Given the description of an element on the screen output the (x, y) to click on. 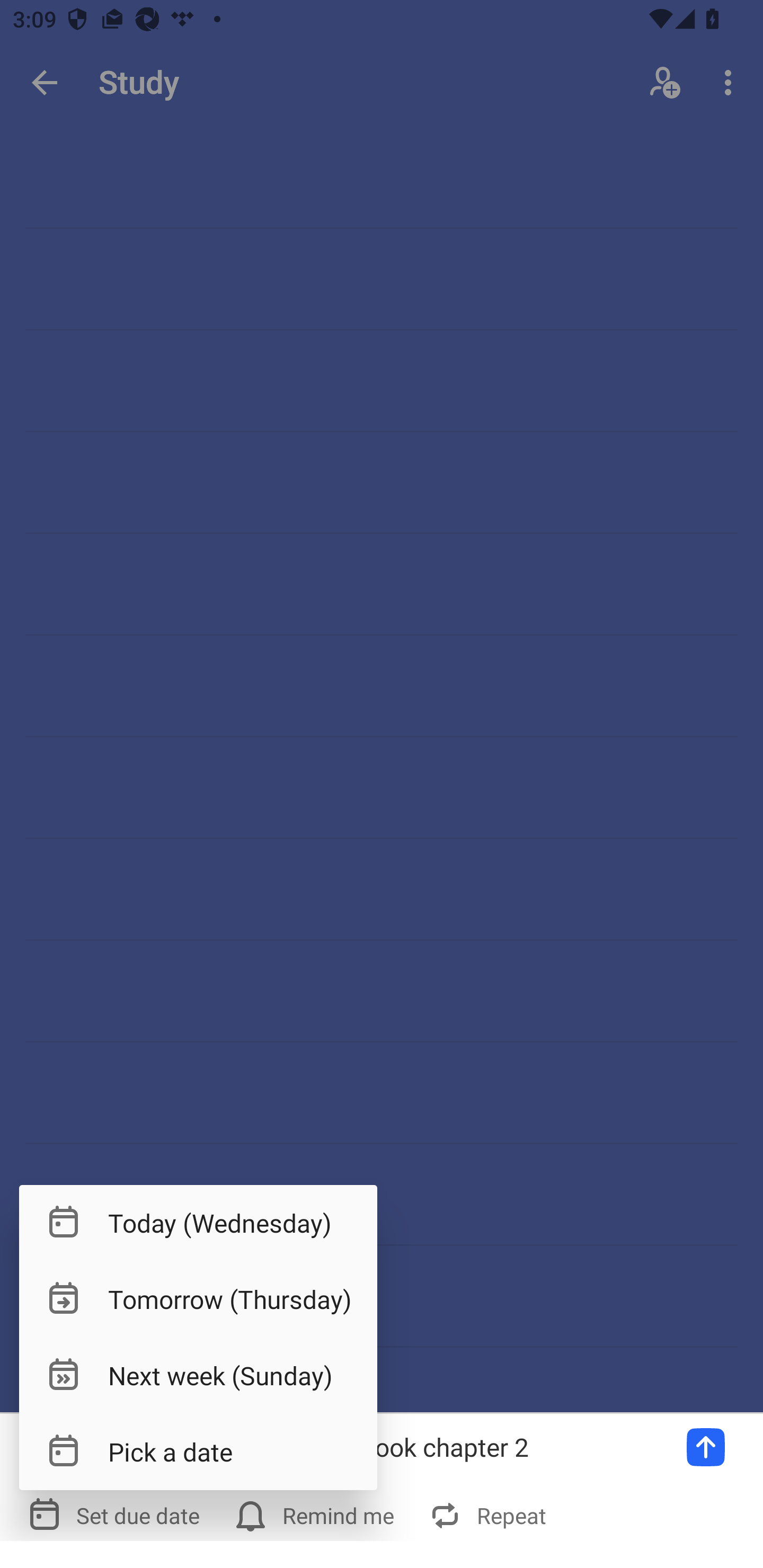
Pick a date4 in 4 Pick a date (197, 1451)
